Given the description of an element on the screen output the (x, y) to click on. 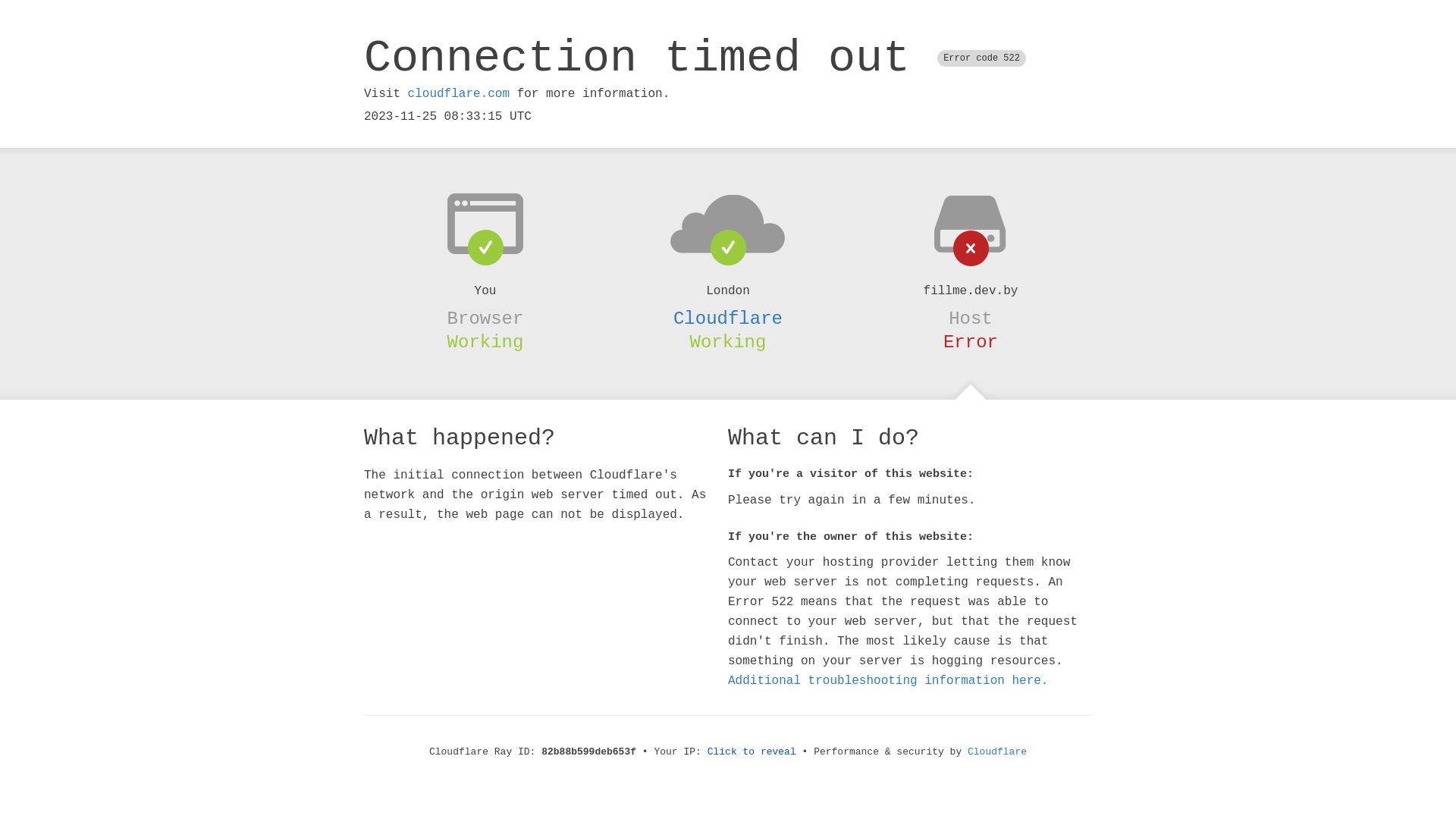
Additional troubleshooting information here. Element type: text (888, 680)
Cloudflare Element type: text (727, 318)
cloudflare.com Element type: text (458, 93)
Click to reveal Element type: text (751, 751)
Cloudflare Element type: text (996, 751)
